Given the description of an element on the screen output the (x, y) to click on. 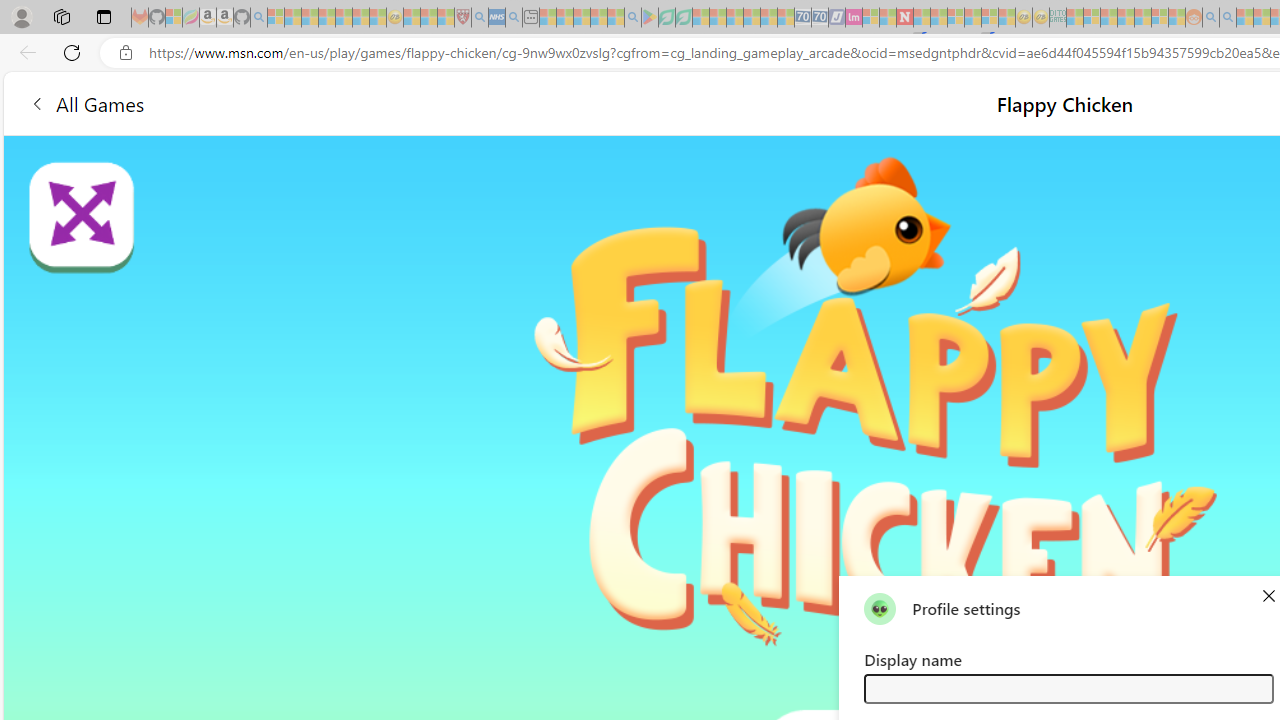
Local - MSN - Sleeping (445, 17)
Jobs - lastminute.com Investor Portal - Sleeping (853, 17)
The Weather Channel - MSN - Sleeping (309, 17)
Bluey: Let's Play! - Apps on Google Play - Sleeping (649, 17)
All Games (373, 102)
Microsoft account | Privacy - Sleeping (1091, 17)
Kinda Frugal - MSN - Sleeping (1142, 17)
